Given the description of an element on the screen output the (x, y) to click on. 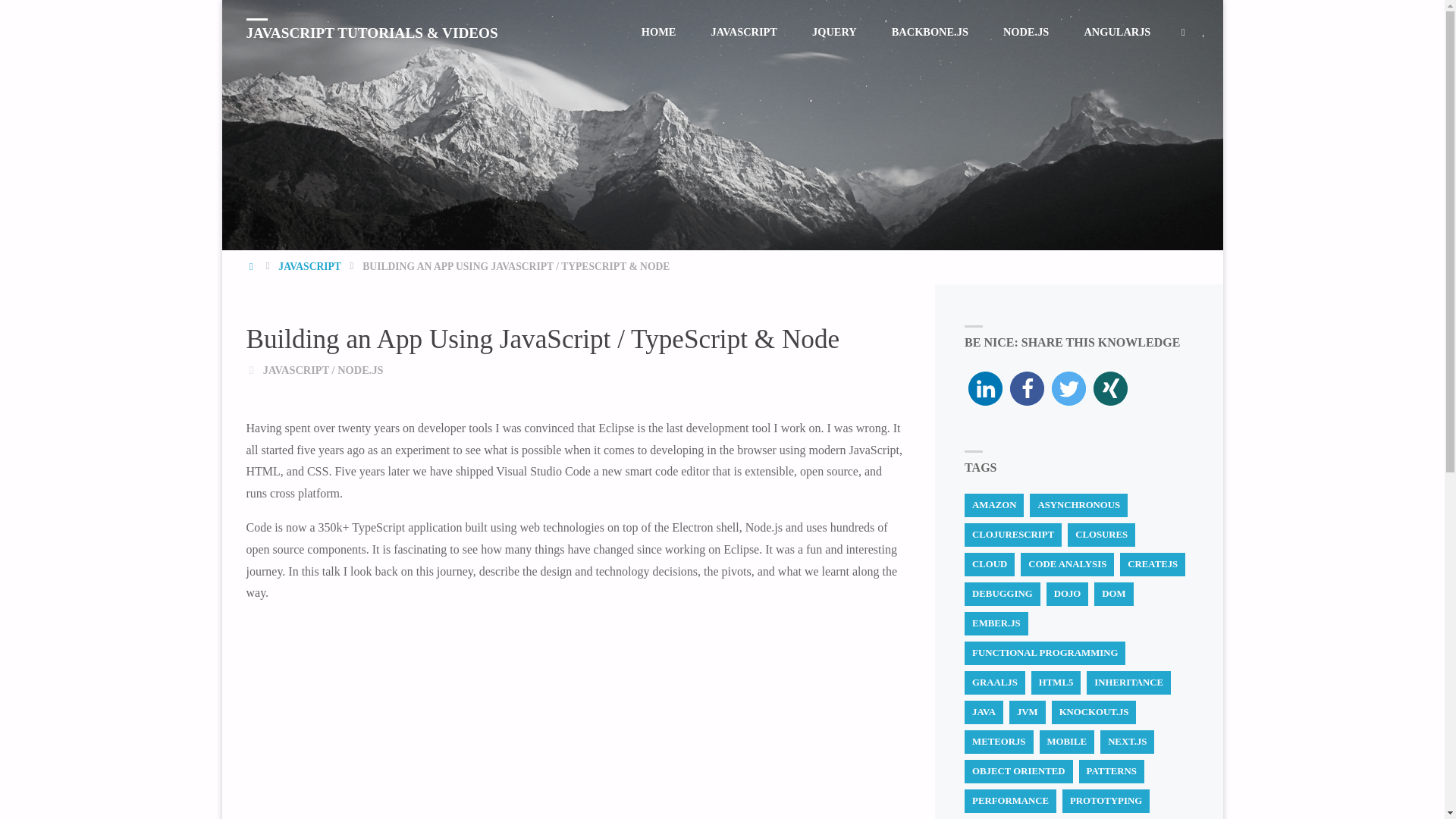
NODE.JS (1025, 32)
JAVASCRIPT (296, 369)
Share on Facebook (1026, 388)
BACKBONE.JS (930, 32)
AMAZON (993, 504)
JQUERY (834, 32)
JAVASCRIPT (309, 266)
Share on LinkedIn (985, 388)
HOME (659, 32)
HOME (252, 266)
Home (252, 266)
CLOJURESCRIPT (1012, 535)
ANGULARJS (1116, 32)
Share on XING (1109, 388)
Share on Twitter (1068, 388)
